Given the description of an element on the screen output the (x, y) to click on. 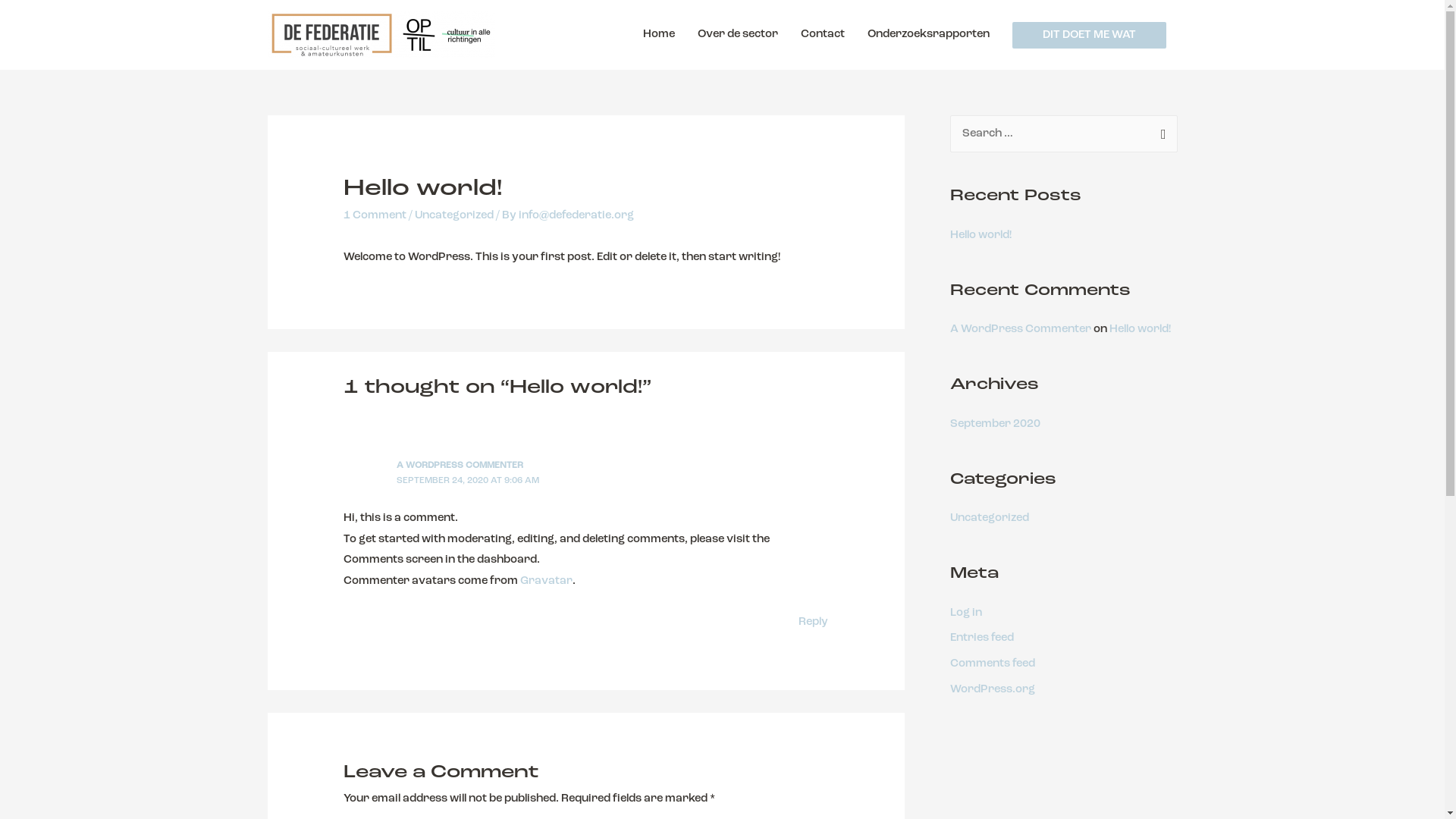
September 2020 Element type: text (994, 423)
Onderzoeksrapporten Element type: text (927, 34)
Comments feed Element type: text (991, 663)
Log in Element type: text (965, 612)
Contact Element type: text (821, 34)
Gravatar Element type: text (546, 580)
Home Element type: text (657, 34)
Search Element type: text (1160, 130)
info@defederatie.org Element type: text (575, 215)
Reply Element type: text (813, 621)
A WORDPRESS COMMENTER Element type: text (459, 465)
1 Comment Element type: text (374, 215)
WordPress.org Element type: text (991, 689)
Uncategorized Element type: text (453, 215)
Hello world! Element type: text (979, 234)
SEPTEMBER 24, 2020 AT 9:06 AM Element type: text (467, 480)
Hello world! Element type: text (1139, 329)
Over de sector Element type: text (736, 34)
Uncategorized Element type: text (988, 518)
Entries feed Element type: text (981, 637)
DIT DOET ME WAT Element type: text (1088, 34)
A WordPress Commenter Element type: text (1019, 329)
